Given the description of an element on the screen output the (x, y) to click on. 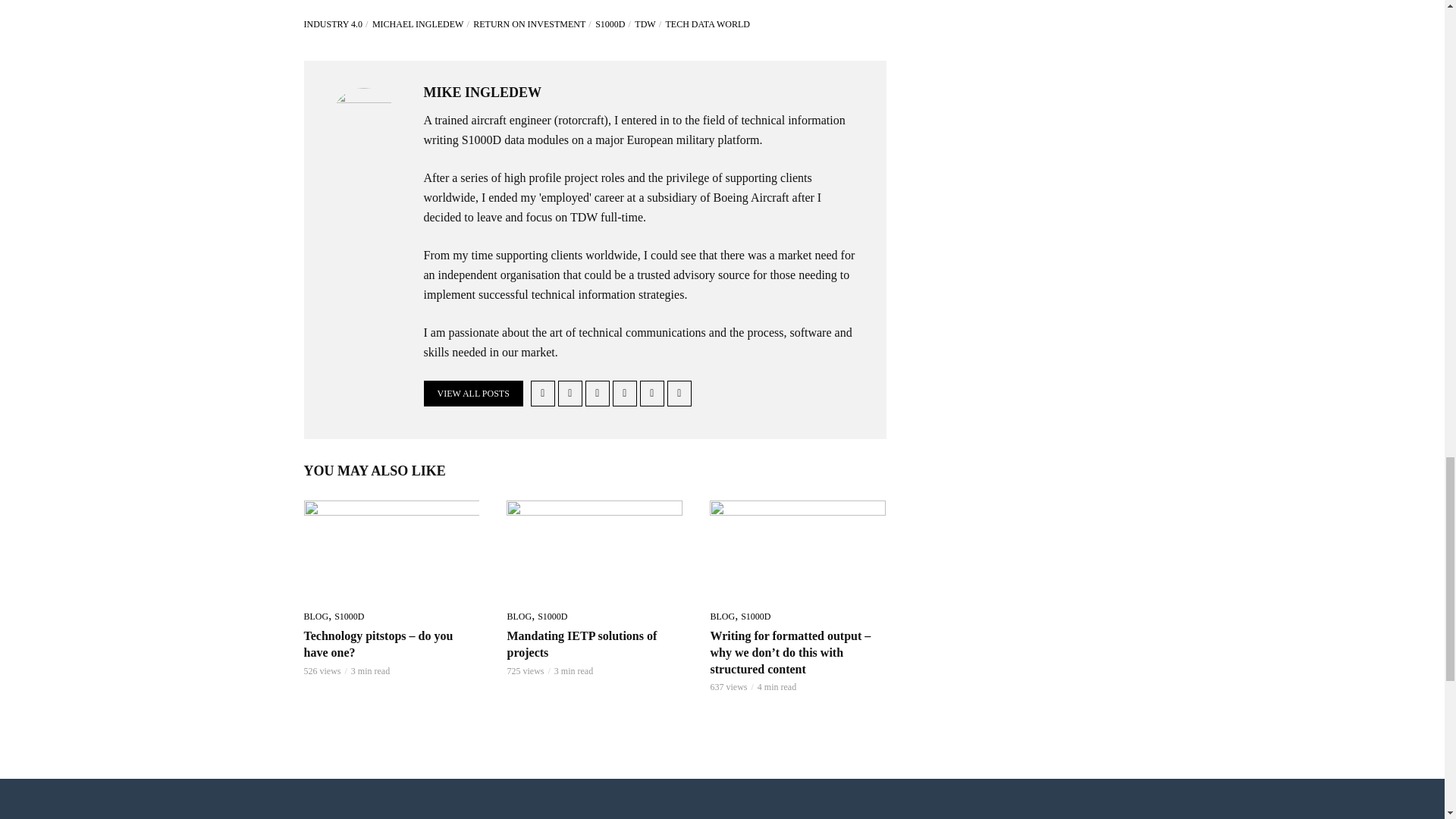
INDUSTRY 4.0 (335, 23)
MICHAEL INGLEDEW (421, 23)
RETURN ON INVESTMENT (532, 23)
Mandating IETP solutions of projects (594, 549)
